Given the description of an element on the screen output the (x, y) to click on. 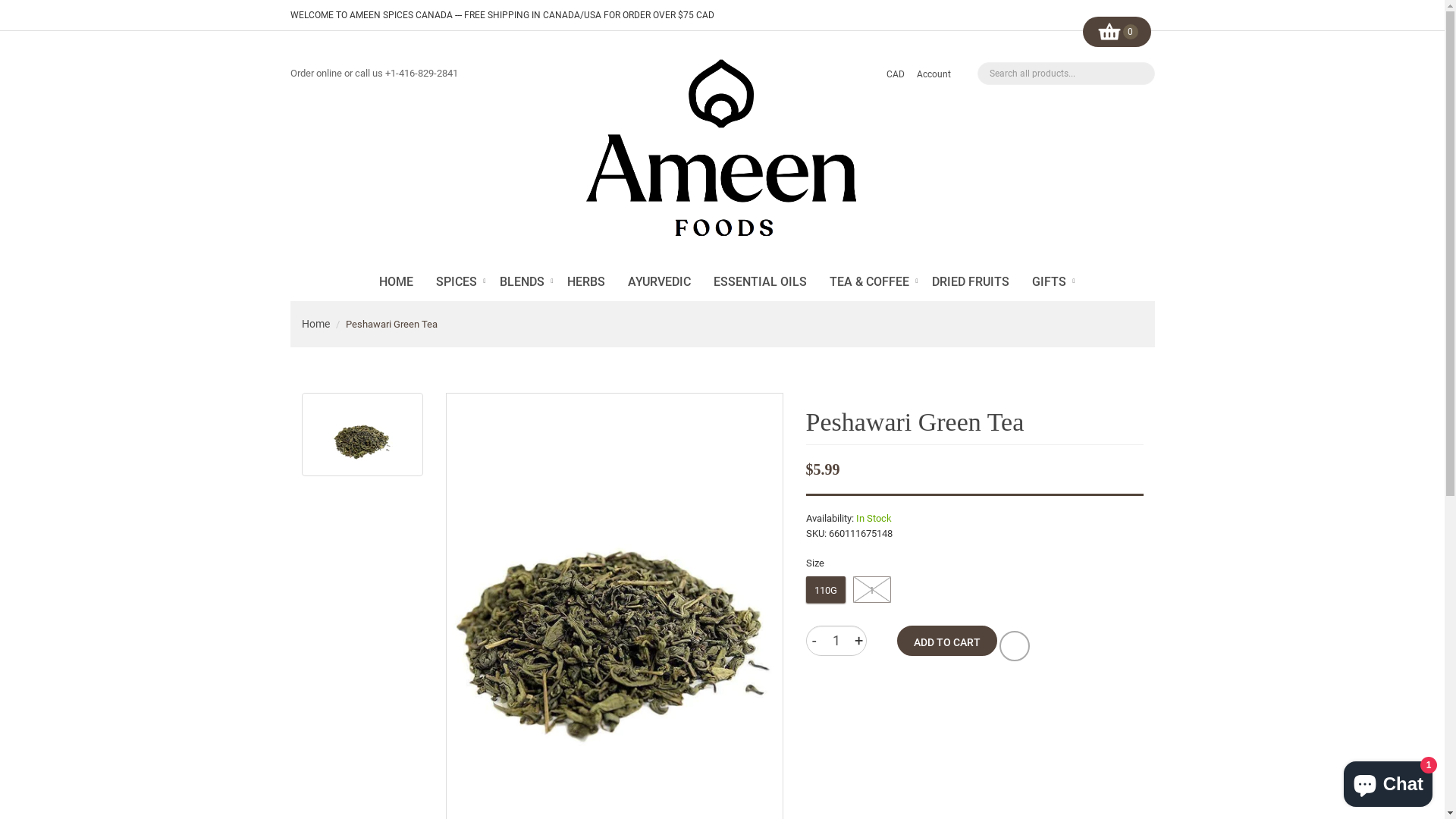
Shopify online store chat Element type: hover (1388, 780)
ESSENTIAL OILS Element type: text (760, 282)
Peshawari Green Tea - Ameen Element type: hover (613, 603)
AYURVEDIC Element type: text (658, 282)
HERBS Element type: text (585, 282)
HOME Element type: text (395, 282)
CAD Element type: text (896, 74)
ADD TO CART Element type: text (946, 640)
Peshawari Green Tea Element type: hover (362, 434)
Account Element type: text (935, 74)
GIFTS Element type: text (1048, 282)
DRIED FRUITS Element type: text (970, 282)
0 Element type: text (1116, 31)
Home Element type: text (315, 323)
TEA & COFFEE Element type: text (868, 282)
BLENDS Element type: text (521, 282)
SPICES Element type: text (456, 282)
